Given the description of an element on the screen output the (x, y) to click on. 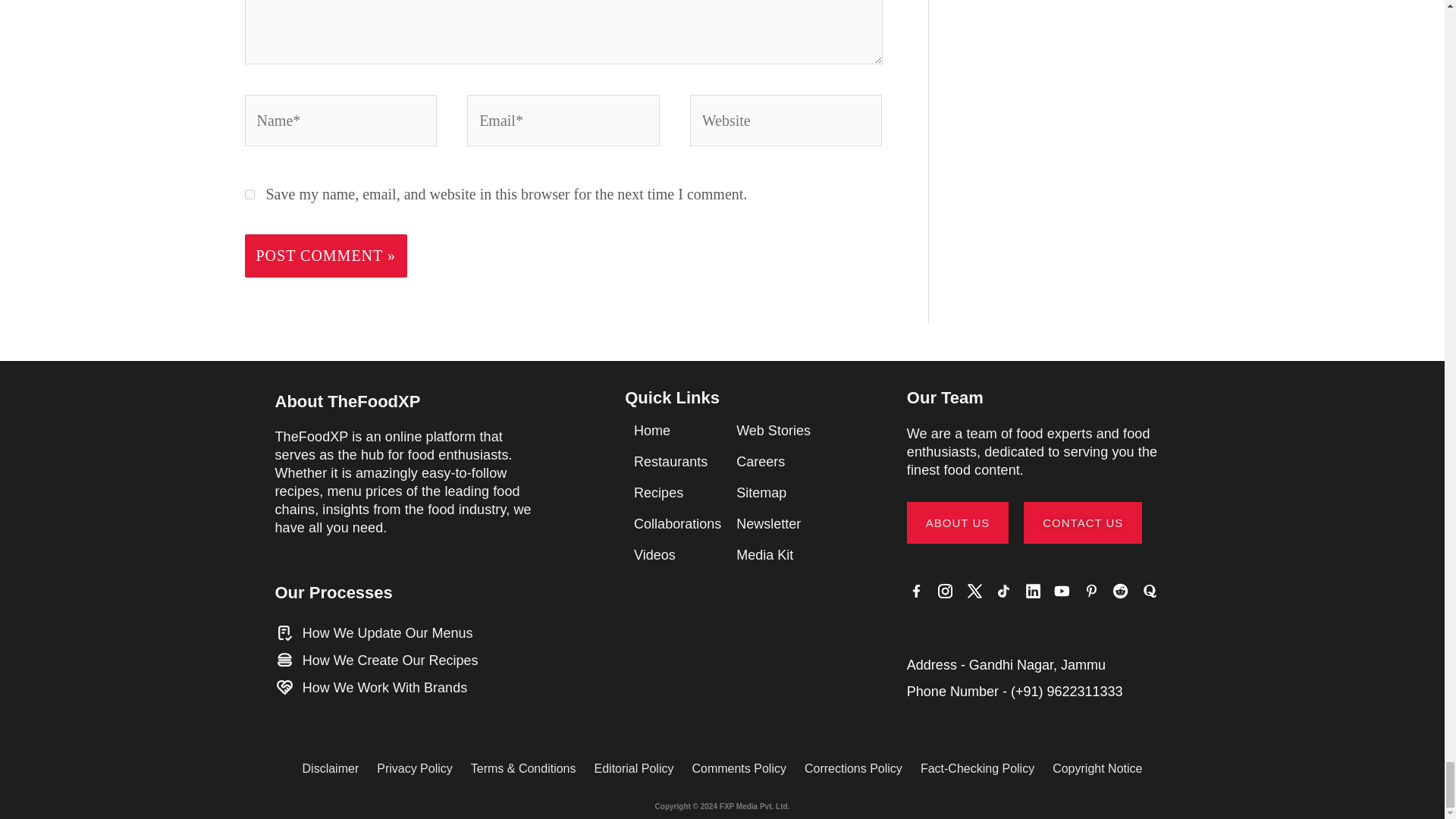
yes (248, 194)
